Given the description of an element on the screen output the (x, y) to click on. 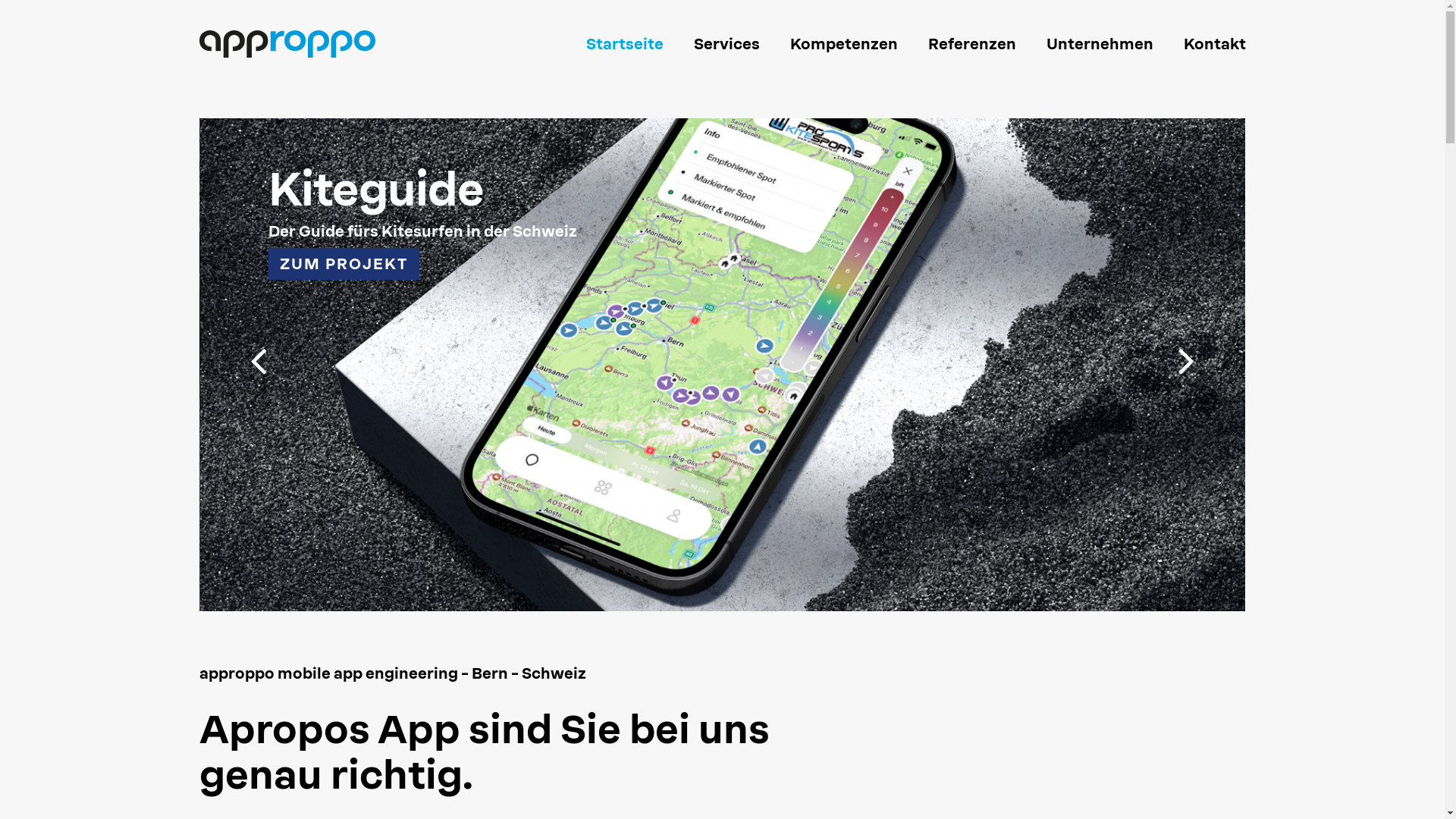
Kompetenzen Element type: text (844, 43)
Kontakt Element type: text (1206, 43)
Unternehmen Element type: text (1099, 43)
Startseite Element type: text (623, 43)
Referenzen Element type: text (972, 43)
Services Element type: text (725, 43)
